Given the description of an element on the screen output the (x, y) to click on. 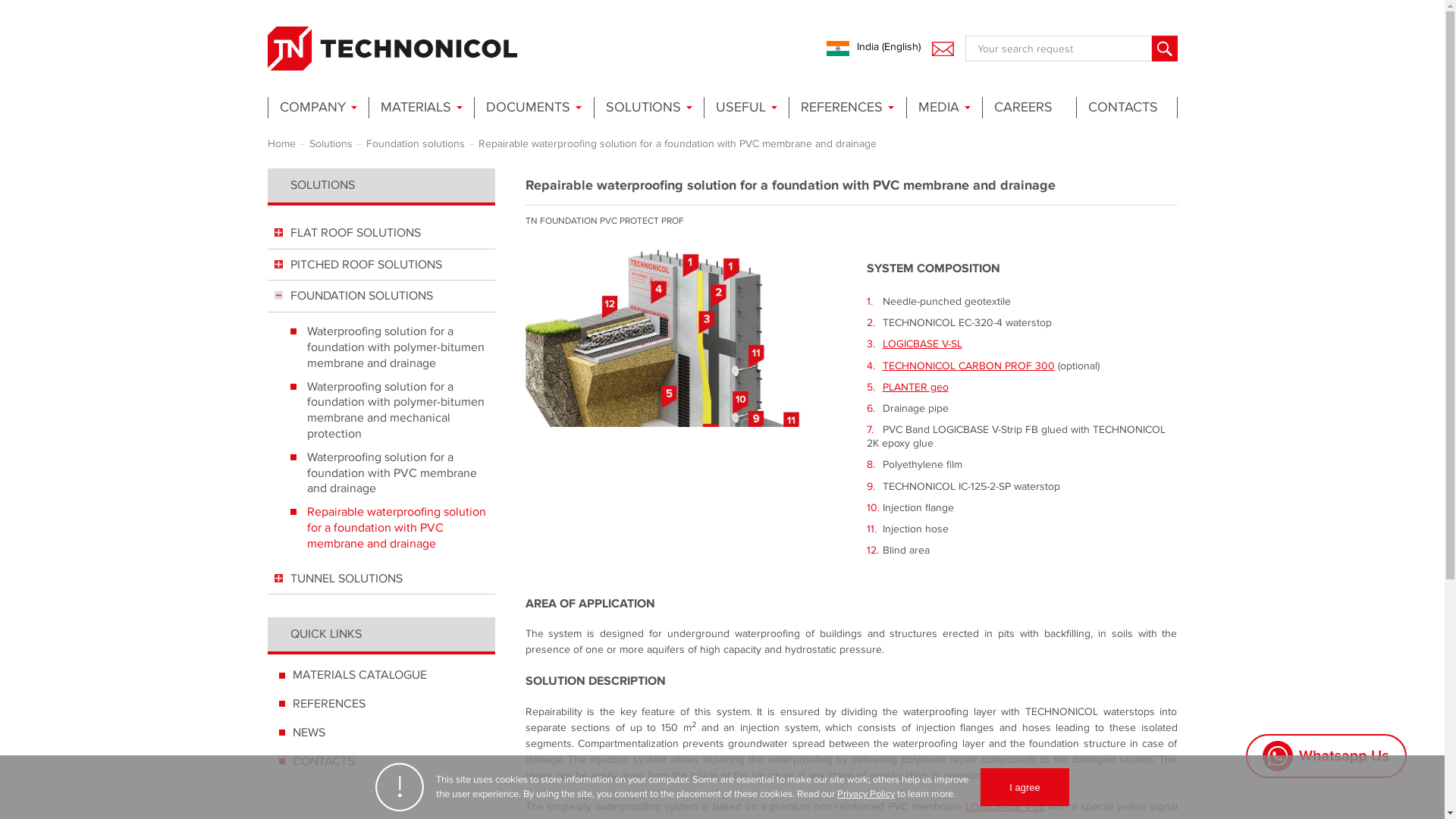
Home (280, 143)
Solutions (330, 143)
MATERIALS (419, 107)
COMPANY (316, 107)
I agree (1023, 786)
Foundation solutions (414, 143)
